Given the description of an element on the screen output the (x, y) to click on. 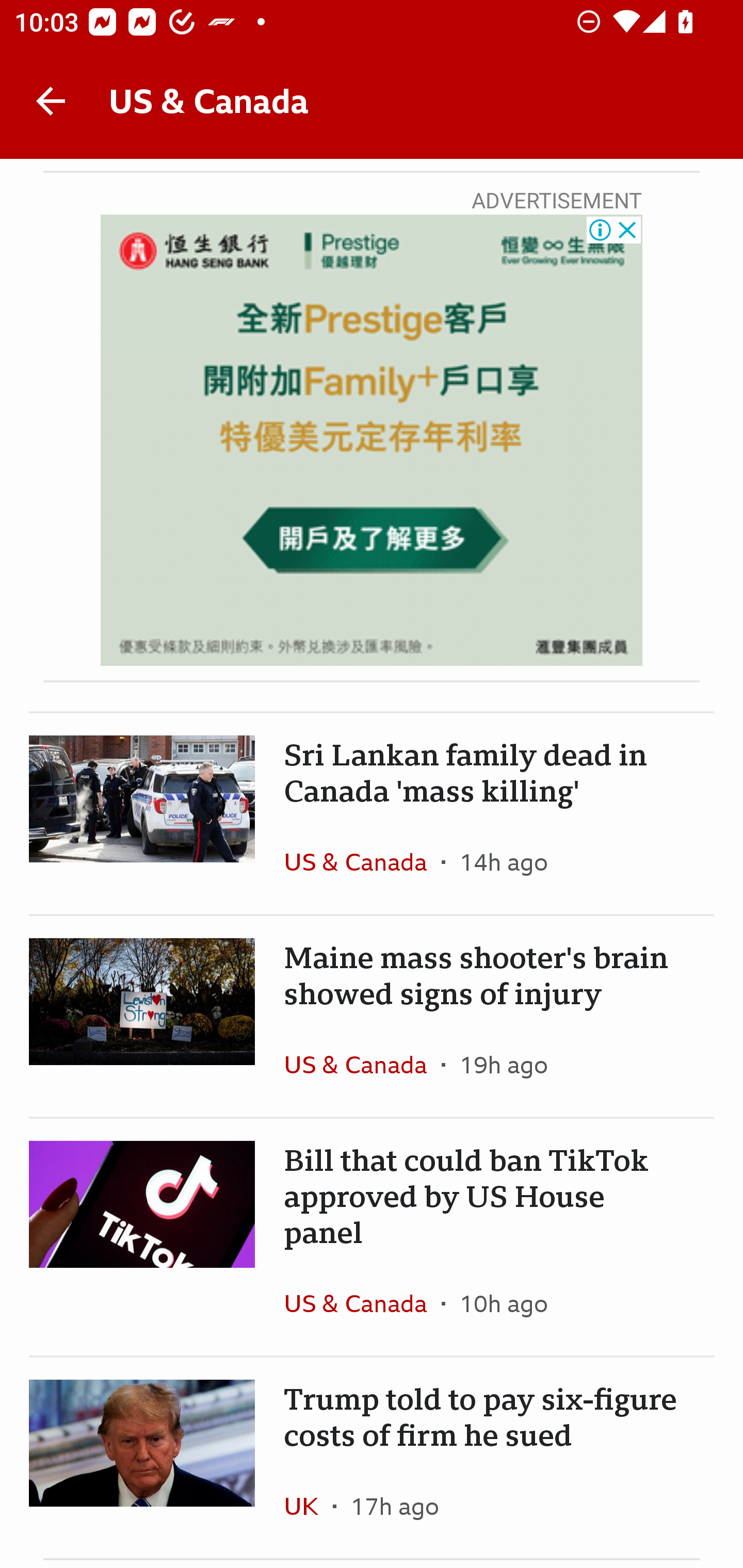
Back (50, 101)
Advertisement (371, 440)
US & Canada In the section US & Canada (362, 861)
US & Canada In the section US & Canada (362, 1064)
US & Canada In the section US & Canada (362, 1302)
UK In the section UK (307, 1505)
